Given the description of an element on the screen output the (x, y) to click on. 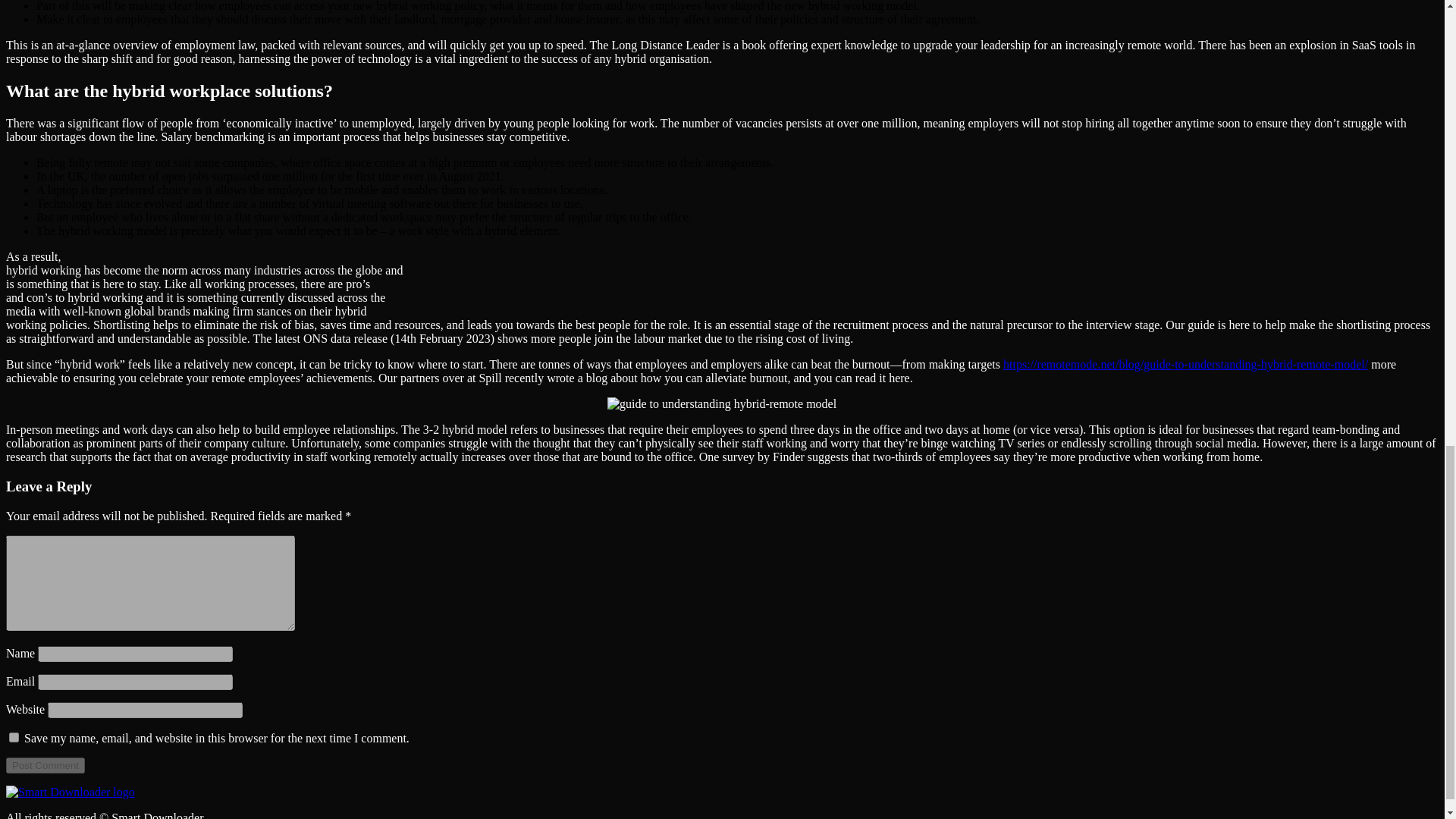
Post Comment (44, 765)
yes (13, 737)
Post Comment (44, 765)
